Given the description of an element on the screen output the (x, y) to click on. 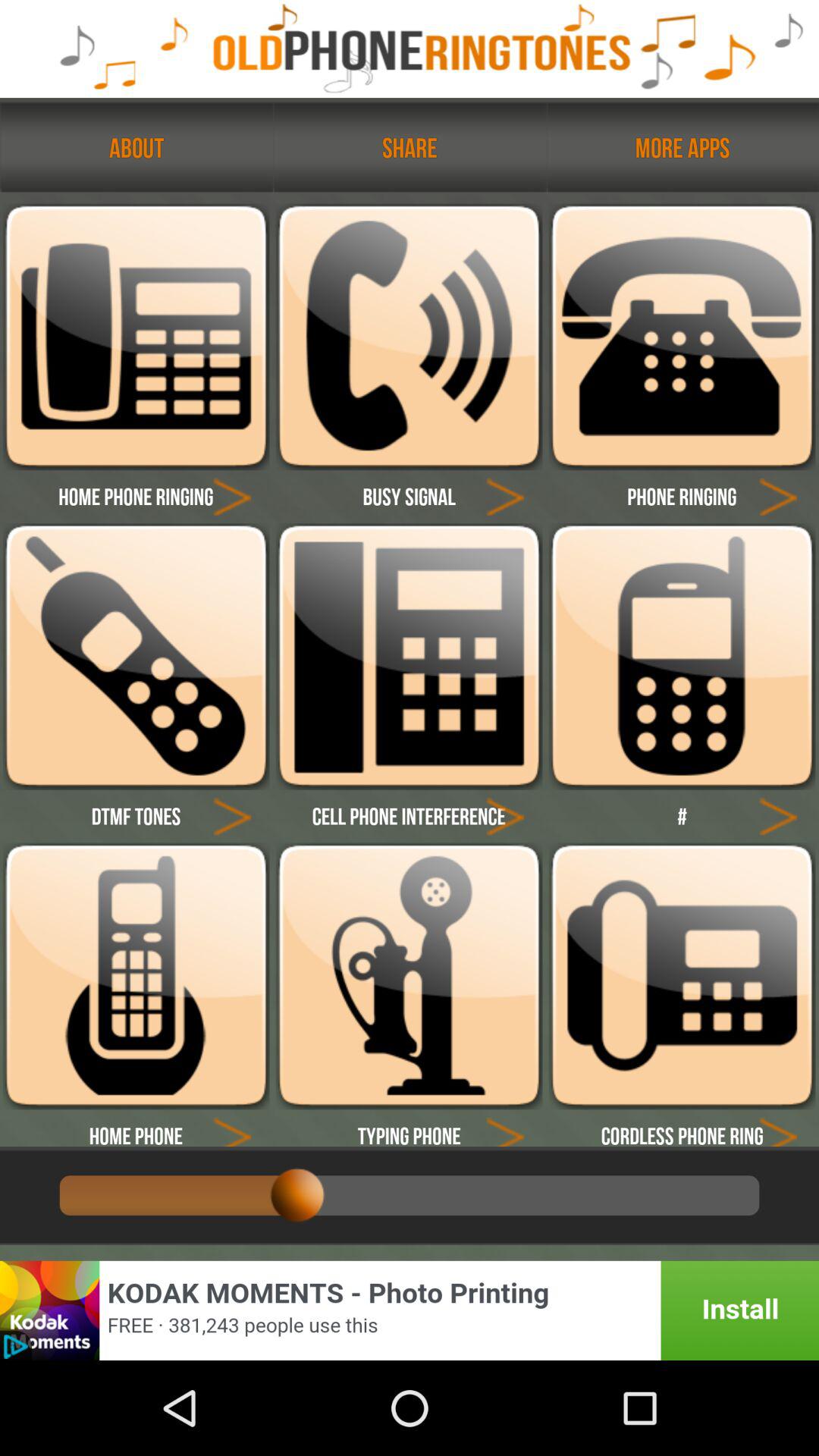
preview ringtone (232, 496)
